Given the description of an element on the screen output the (x, y) to click on. 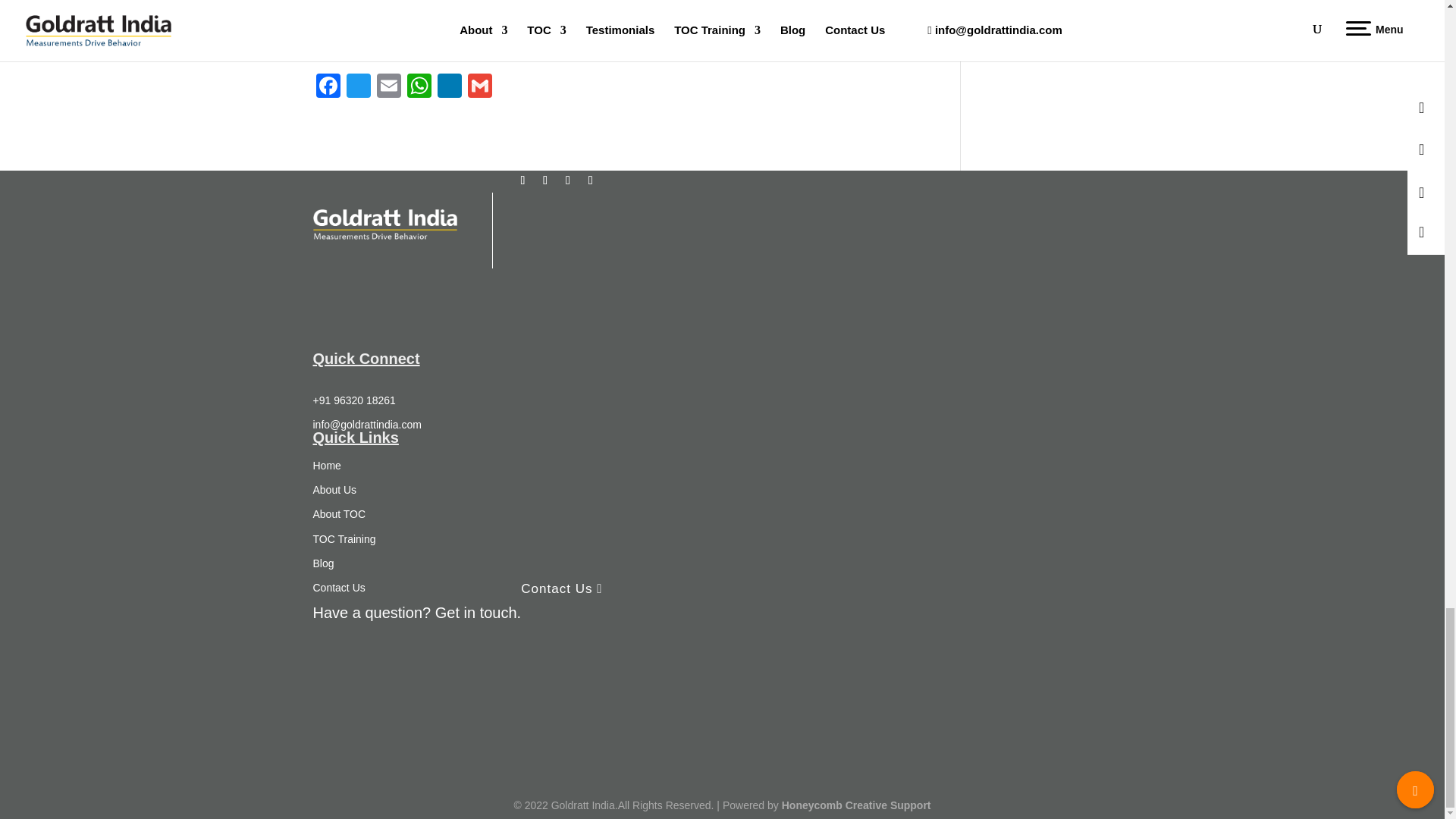
Twitter (357, 87)
Facebook (327, 87)
WhatsApp (418, 87)
Email (387, 87)
